Given the description of an element on the screen output the (x, y) to click on. 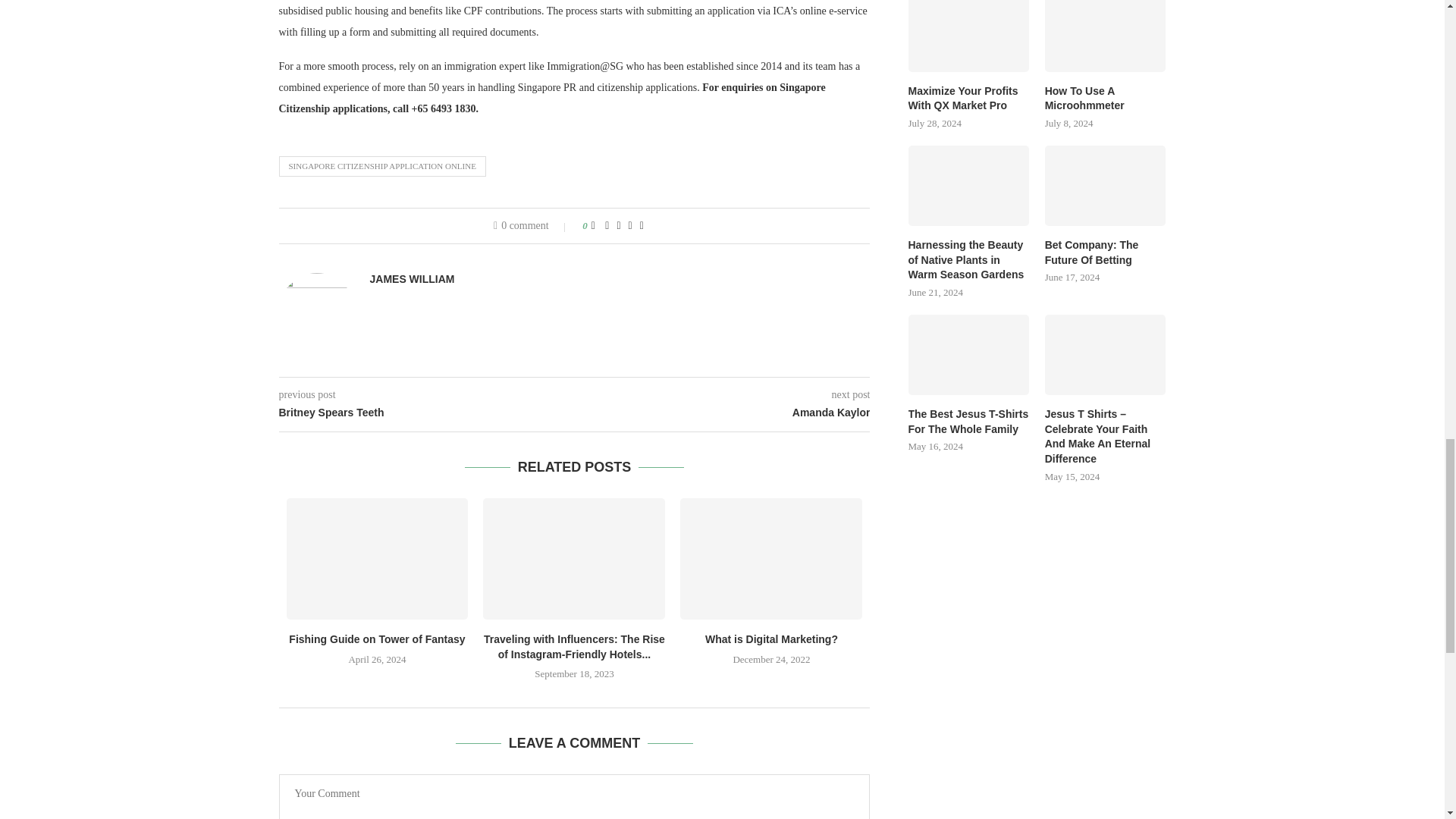
What is Digital Marketing? (770, 558)
Fishing Guide on Tower of Fantasy (377, 558)
Author James William (411, 278)
